Given the description of an element on the screen output the (x, y) to click on. 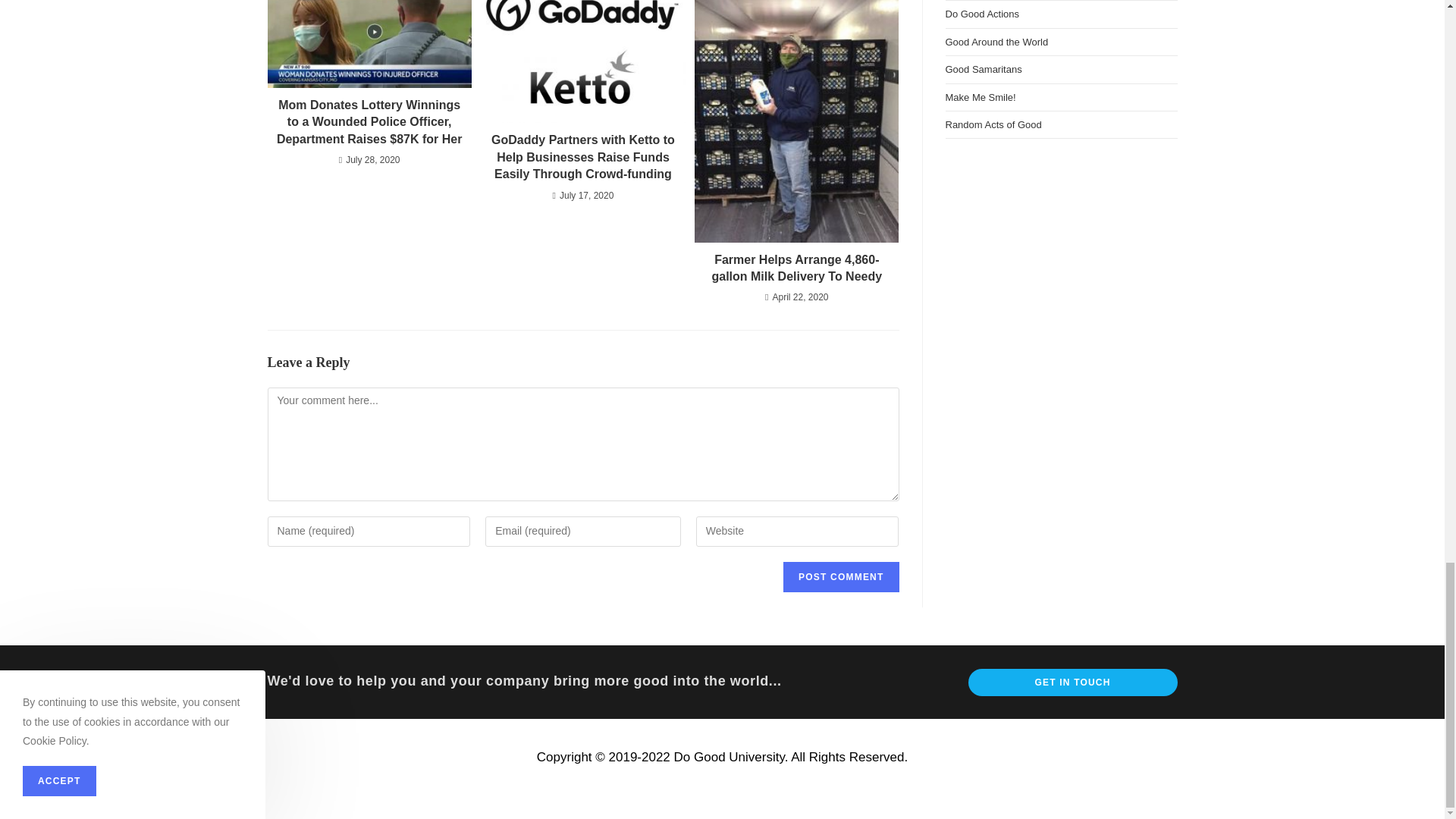
Post Comment (840, 576)
Post Comment (840, 576)
Farmer Helps Arrange 4,860-gallon Milk Delivery To Needy (796, 268)
